Given the description of an element on the screen output the (x, y) to click on. 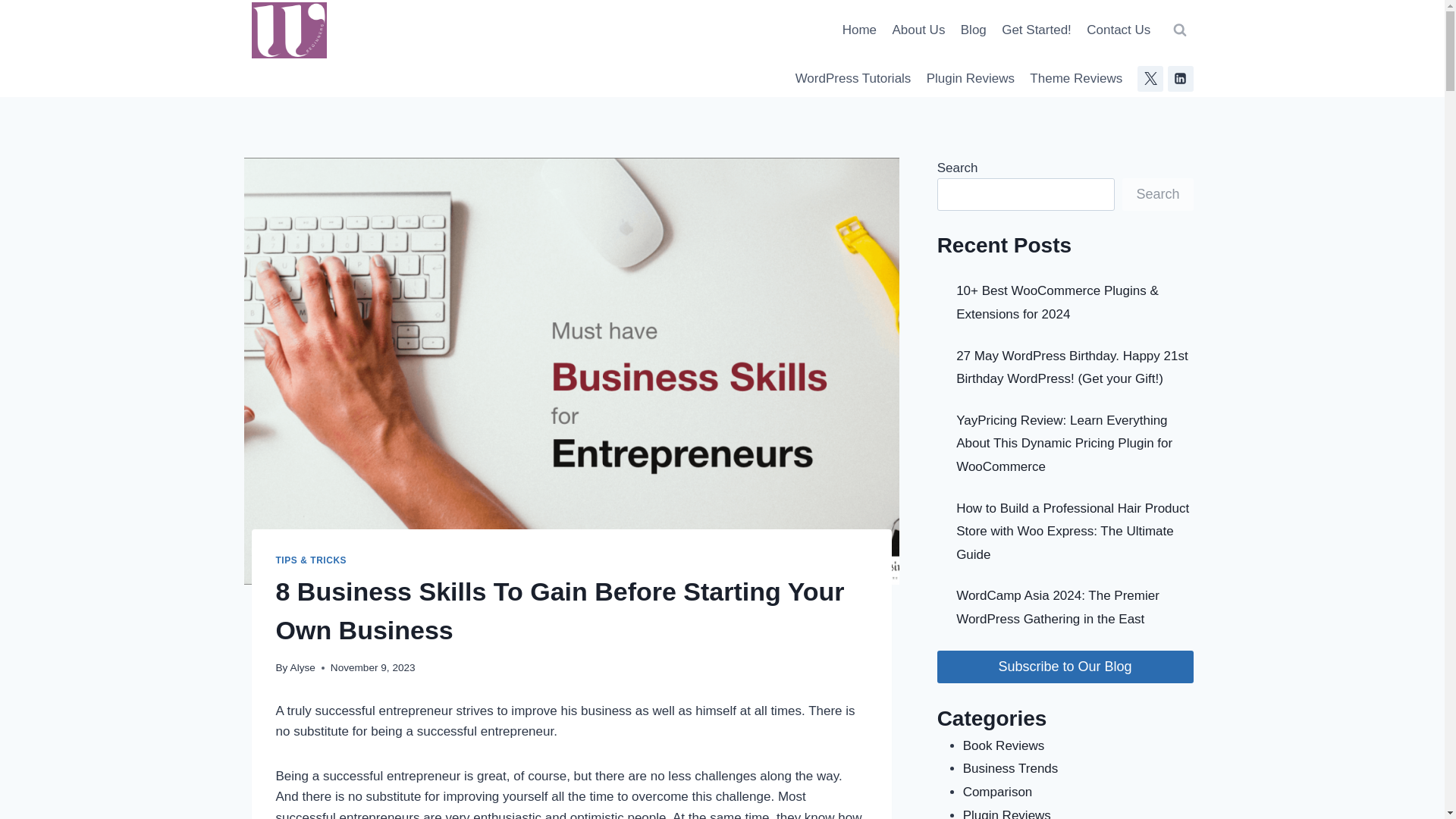
Alyse (302, 667)
Home (859, 30)
Blog (973, 30)
Get Started! (1036, 30)
Theme Reviews (1075, 78)
WordPress Tutorials (852, 78)
Contact Us (1117, 30)
About Us (917, 30)
Plugin Reviews (970, 78)
